Given the description of an element on the screen output the (x, y) to click on. 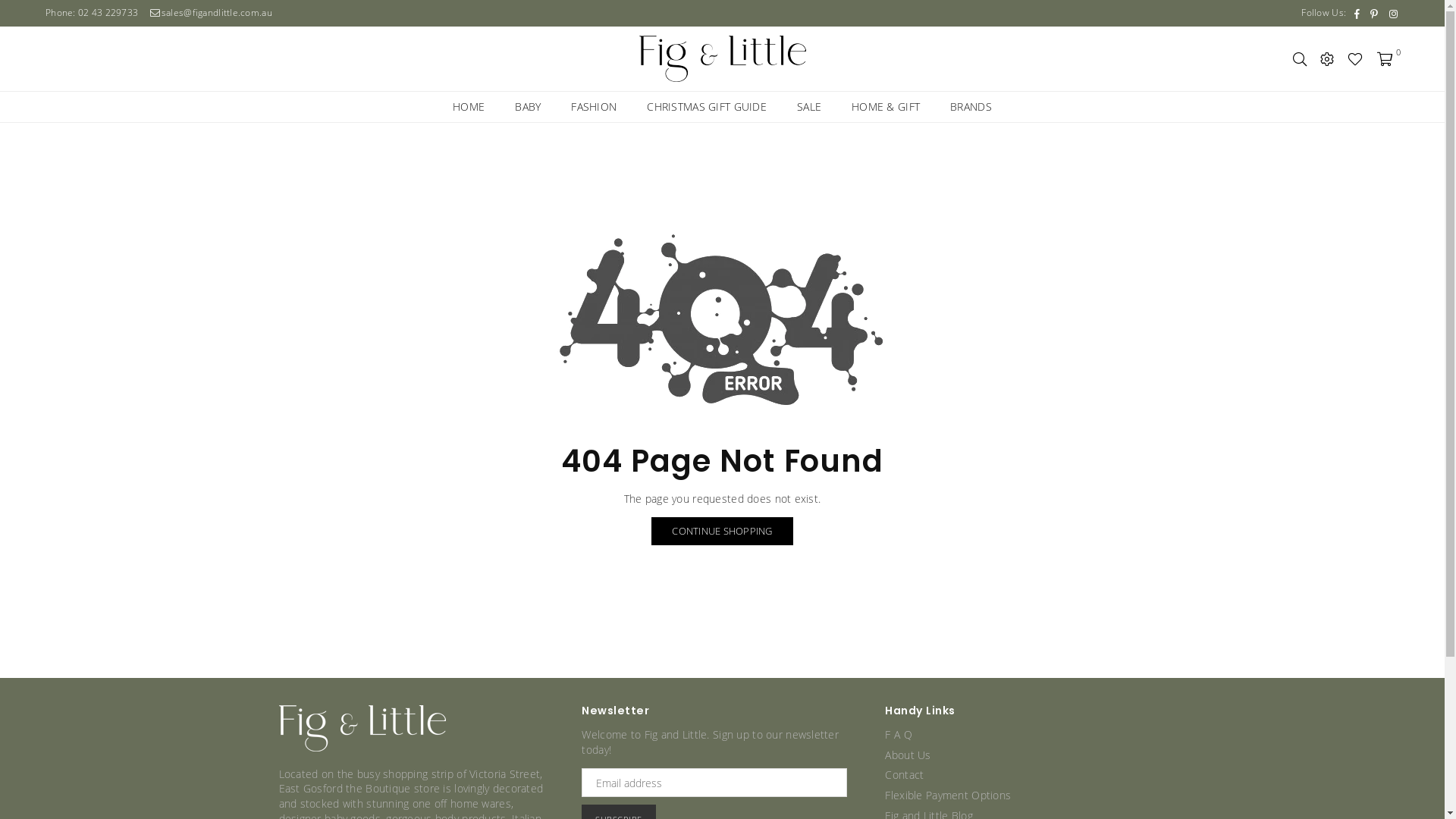
FASHION Element type: text (593, 106)
Instagram Element type: text (1392, 13)
Settings Element type: hover (1326, 58)
F A Q Element type: text (897, 734)
Contact Element type: text (903, 774)
BRANDS Element type: text (970, 106)
HOME & GIFT Element type: text (885, 106)
0 Element type: text (1384, 58)
Facebook Element type: text (1357, 13)
sales@figandlittle.com.au Element type: text (211, 12)
Phone: 02 43 229733 Element type: text (93, 12)
Wishlist Element type: hover (1354, 58)
Search Element type: hover (1299, 58)
BABY Element type: text (527, 106)
Fig & Little Element type: text (722, 58)
CONTINUE SHOPPING Element type: text (721, 531)
CHRISTMAS GIFT GUIDE Element type: text (706, 106)
HOME Element type: text (468, 106)
Flexible Payment Options Element type: text (947, 794)
SALE Element type: text (809, 106)
About Us Element type: text (907, 754)
Pinterest Element type: text (1374, 13)
